Given the description of an element on the screen output the (x, y) to click on. 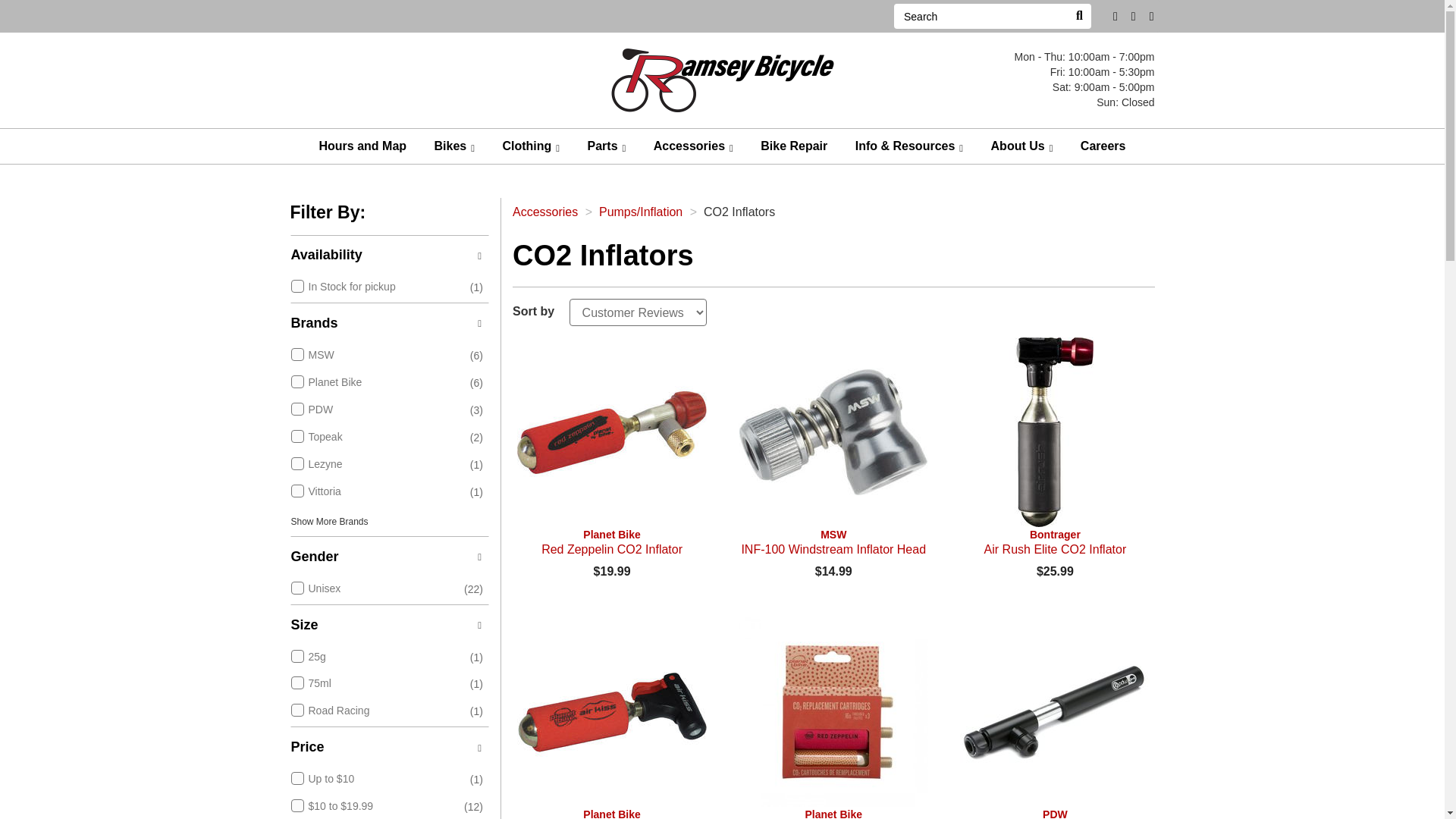
Search (1078, 16)
Ramsey Bicycle Home Page (721, 78)
Hours and Map (363, 145)
Bikes (454, 145)
Search (980, 16)
